Given the description of an element on the screen output the (x, y) to click on. 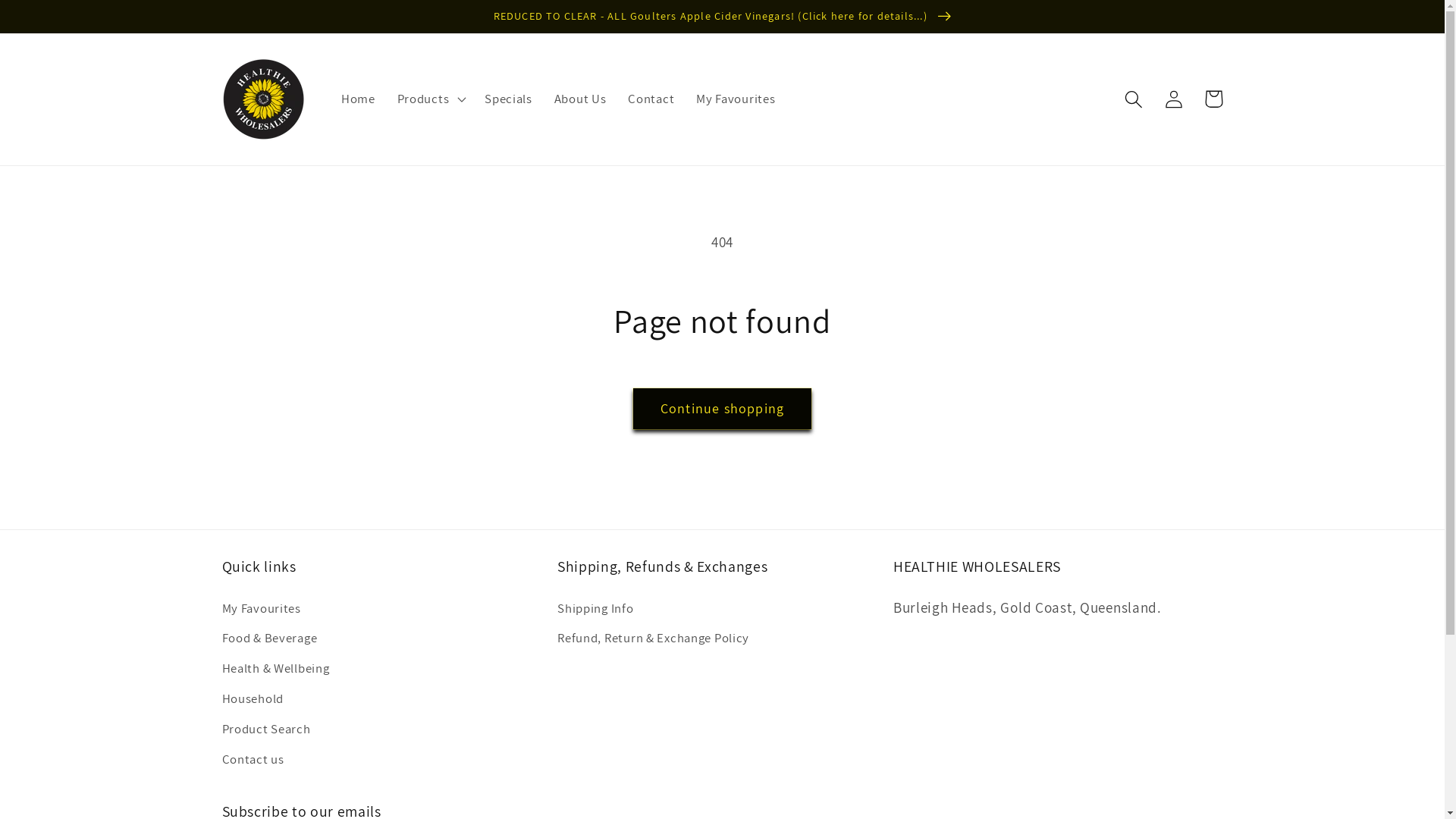
My Favourites Element type: text (260, 610)
Cart Element type: text (1213, 98)
Household Element type: text (251, 699)
Food & Beverage Element type: text (268, 638)
My Favourites Element type: text (735, 99)
Continue shopping Element type: text (722, 408)
Log in Element type: text (1173, 98)
Refund, Return & Exchange Policy Element type: text (653, 638)
Product Search Element type: text (265, 729)
Health & Wellbeing Element type: text (275, 668)
Contact us Element type: text (252, 759)
Shipping Info Element type: text (595, 610)
Home Element type: text (358, 99)
About Us Element type: text (579, 99)
Contact Element type: text (651, 99)
Specials Element type: text (508, 99)
